Given the description of an element on the screen output the (x, y) to click on. 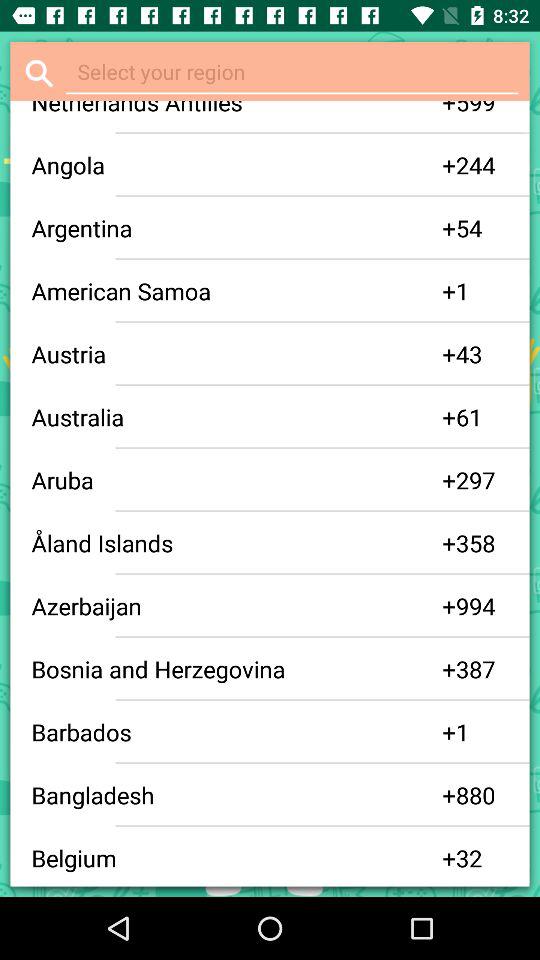
select the app next to the + icon (236, 480)
